Given the description of an element on the screen output the (x, y) to click on. 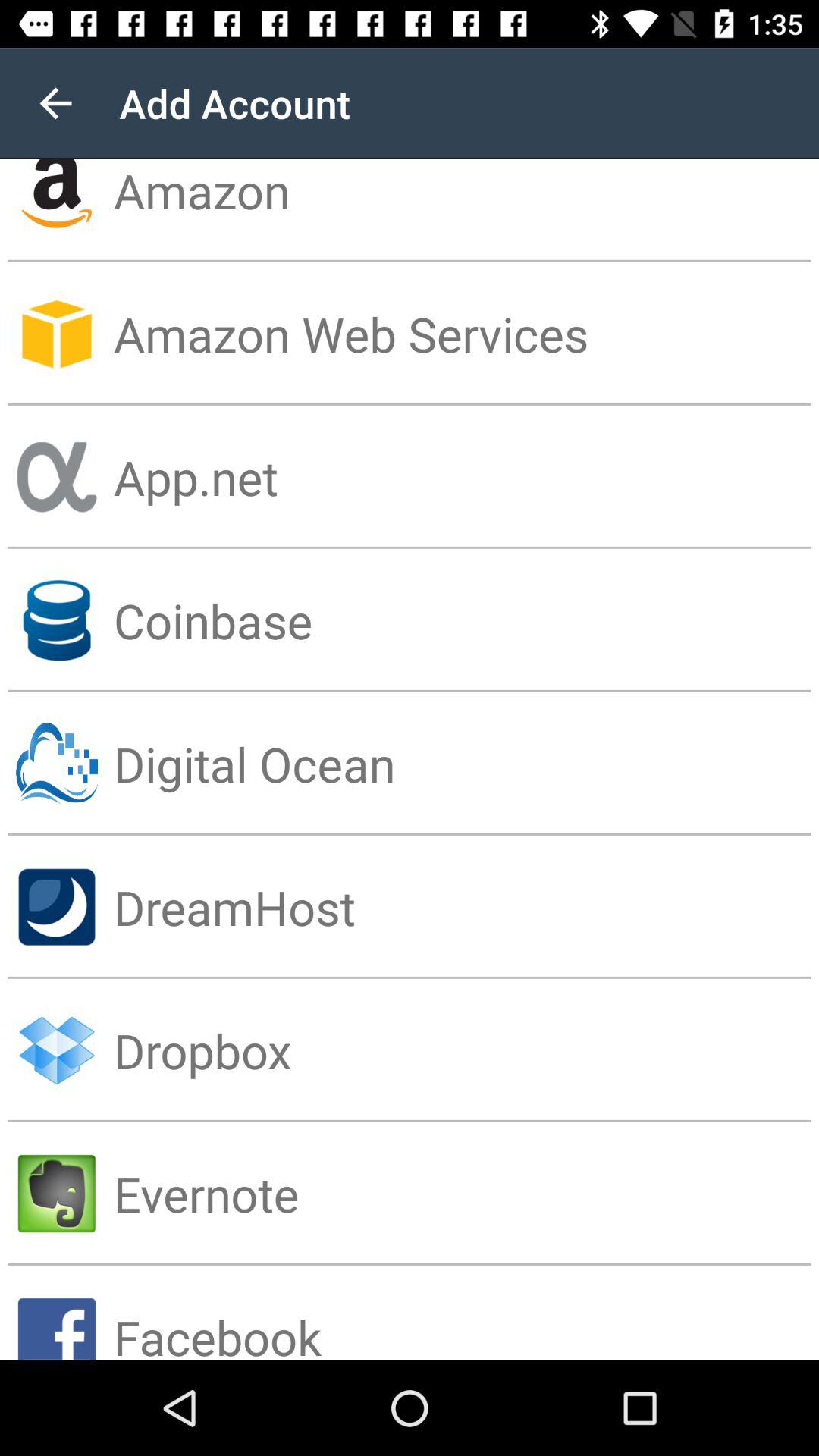
swipe until the amazon web services (466, 333)
